Given the description of an element on the screen output the (x, y) to click on. 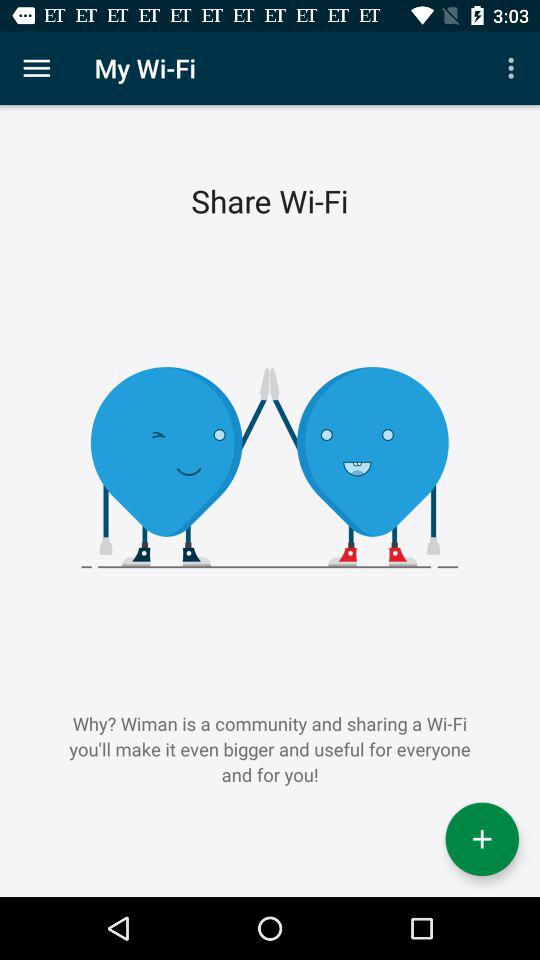
turn on item next to my wi-fi (36, 68)
